Given the description of an element on the screen output the (x, y) to click on. 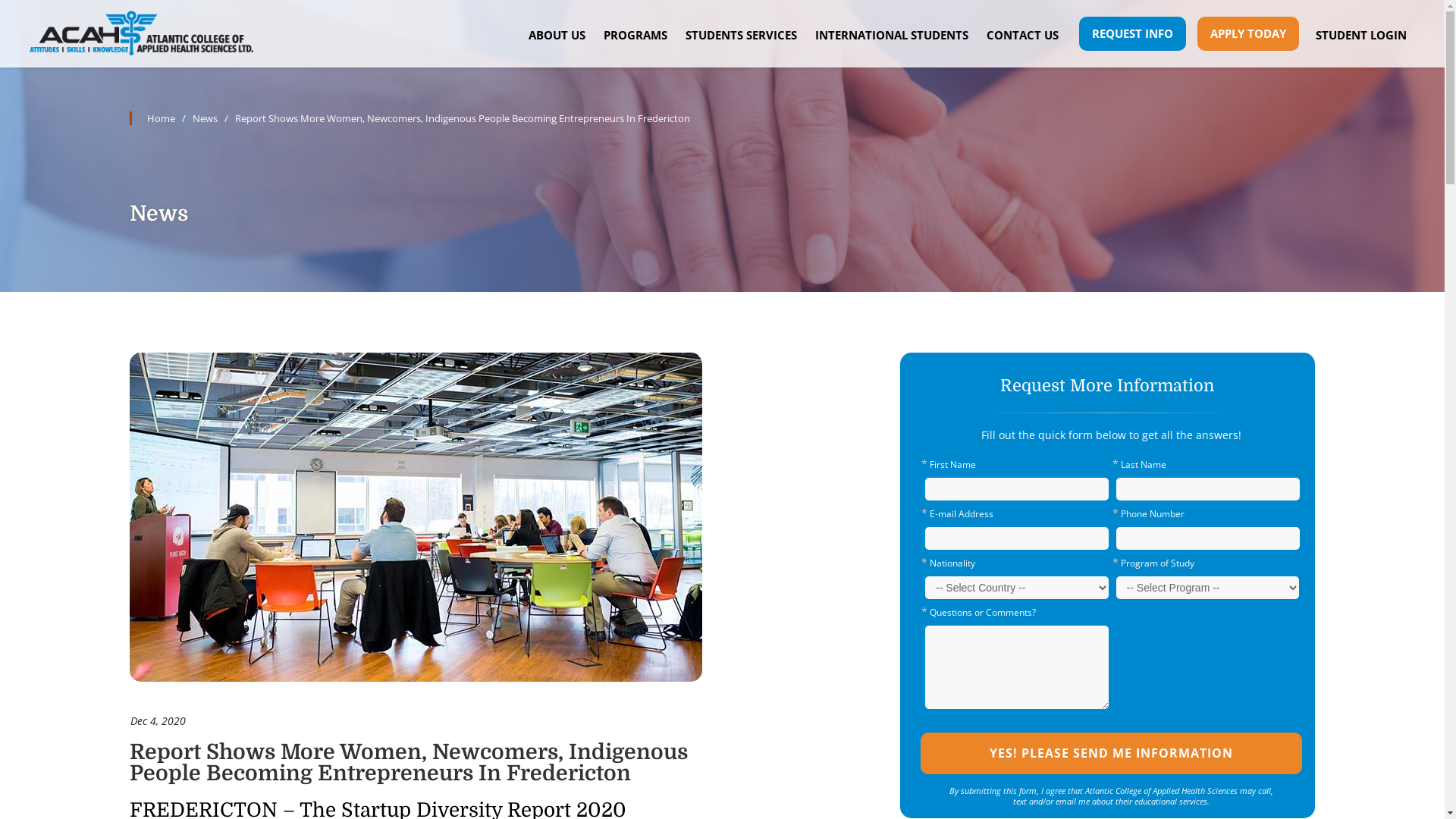
STUDENTS SERVICES Element type: text (741, 35)
News Element type: text (204, 118)
INTERNATIONAL STUDENTS Element type: text (891, 35)
APPLY TODAY Element type: text (1248, 33)
ABOUT US Element type: text (556, 35)
STUDENT LOGIN Element type: text (1360, 35)
Home Element type: text (152, 118)
CONTACT US Element type: text (1022, 35)
YES! PLEASE SEND ME INFORMATION Element type: text (1111, 753)
PROGRAMS Element type: text (635, 35)
REQUEST INFO Element type: text (1132, 33)
